Given the description of an element on the screen output the (x, y) to click on. 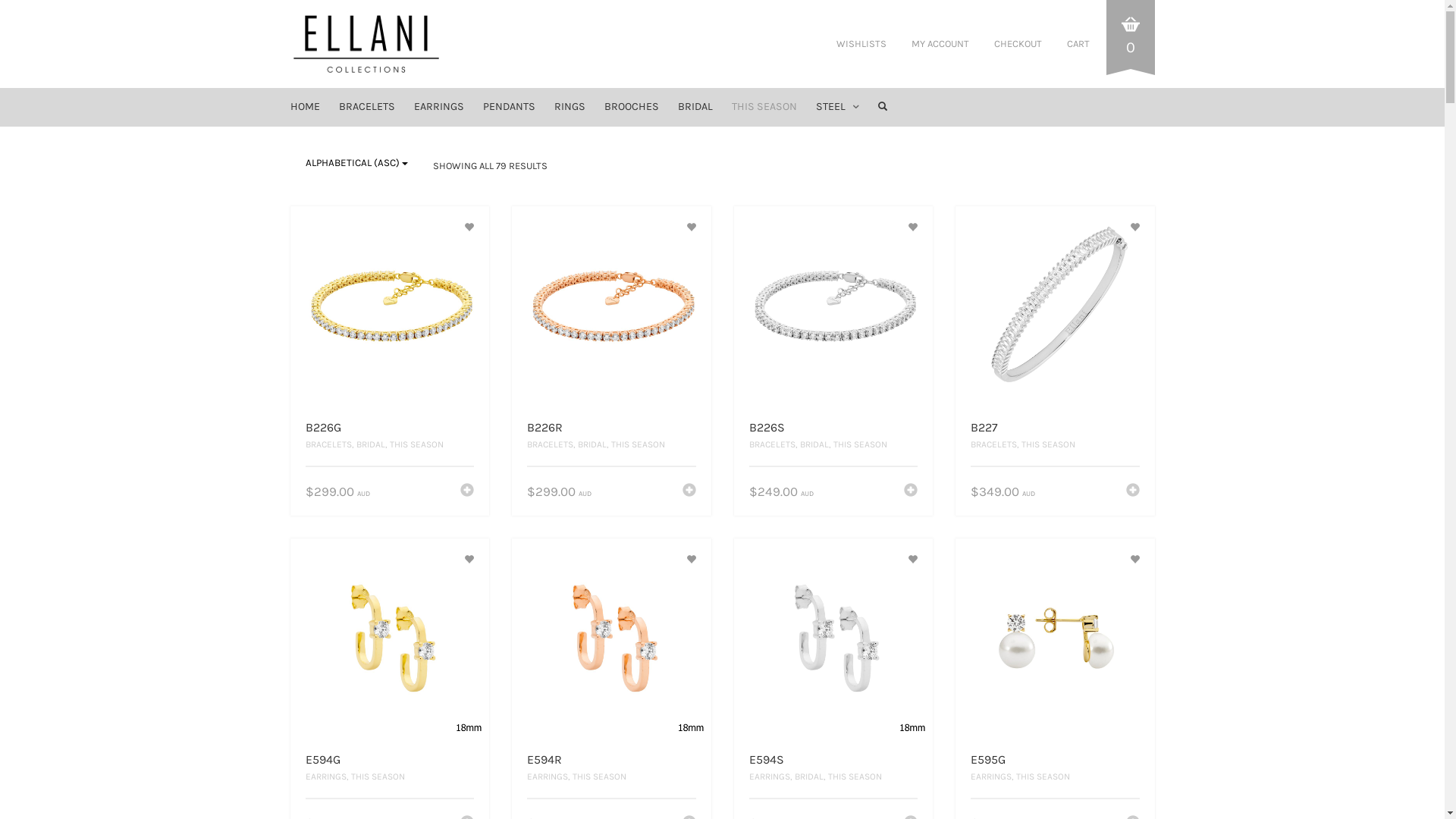
WISHLISTS Element type: text (861, 43)
E594S Element type: text (766, 759)
THIS SEASON Element type: text (599, 776)
THIS SEASON Element type: text (854, 776)
CART Element type: text (1074, 43)
CHECKOUT Element type: text (1017, 43)
B226S Element type: text (766, 427)
EARRINGS Element type: text (990, 776)
0 Element type: text (1129, 39)
BRIDAL Element type: text (591, 444)
HOME Element type: text (307, 106)
BRACELETS Element type: text (993, 444)
THIS SEASON Element type: text (416, 444)
BRACELETS Element type: text (772, 444)
BRACELETS Element type: text (365, 106)
RINGS Element type: text (569, 106)
BRACELETS Element type: text (327, 444)
E595G Element type: text (987, 759)
BRIDAL Element type: text (813, 444)
E594G Element type: text (321, 759)
PENDANTS Element type: text (508, 106)
STEEL Element type: text (837, 106)
EARRINGS Element type: text (547, 776)
MY ACCOUNT Element type: text (939, 43)
BRIDAL Element type: text (808, 776)
THIS SEASON Element type: text (638, 444)
EARRINGS Element type: text (769, 776)
EARRINGS Element type: text (438, 106)
E594R Element type: text (544, 759)
BRIDAL Element type: text (695, 106)
THIS SEASON Element type: text (377, 776)
BRACELETS Element type: text (550, 444)
BRIDAL Element type: text (370, 444)
B226G Element type: text (322, 427)
BROOCHES Element type: text (630, 106)
EARRINGS Element type: text (324, 776)
THIS SEASON Element type: text (859, 444)
ALPHABETICAL (ASC) Element type: text (355, 162)
B226R Element type: text (544, 427)
THIS SEASON Element type: text (763, 106)
THIS SEASON Element type: text (1043, 776)
B227 Element type: text (983, 427)
THIS SEASON Element type: text (1048, 444)
